Given the description of an element on the screen output the (x, y) to click on. 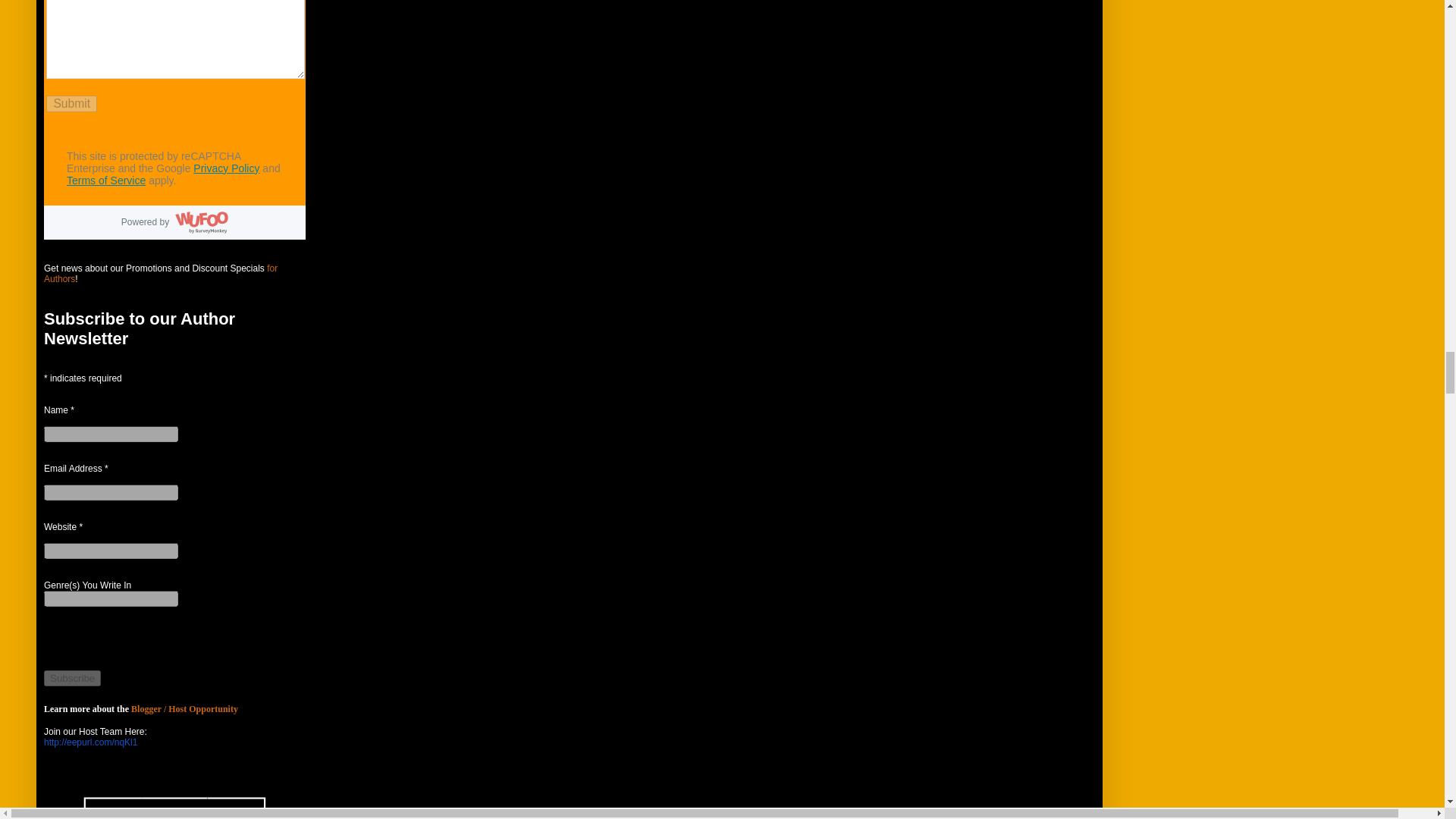
Subscribe (71, 678)
